Given the description of an element on the screen output the (x, y) to click on. 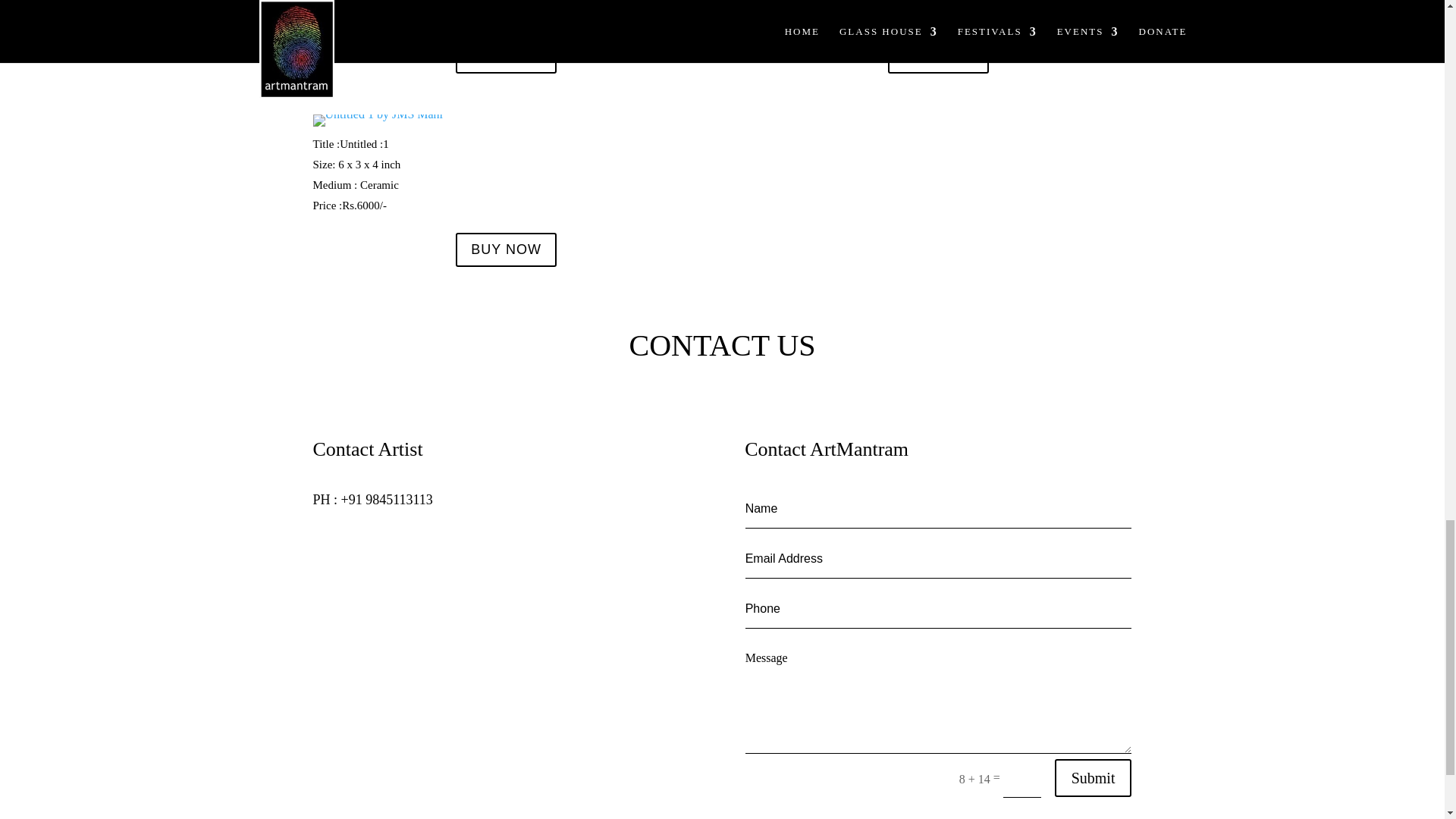
Untitled 1 (377, 119)
BUY NOW (938, 55)
Minimum length: 6 characters.  (938, 608)
Untitled 1 by JMS Mani (377, 113)
BUY NOW (505, 55)
